Given the description of an element on the screen output the (x, y) to click on. 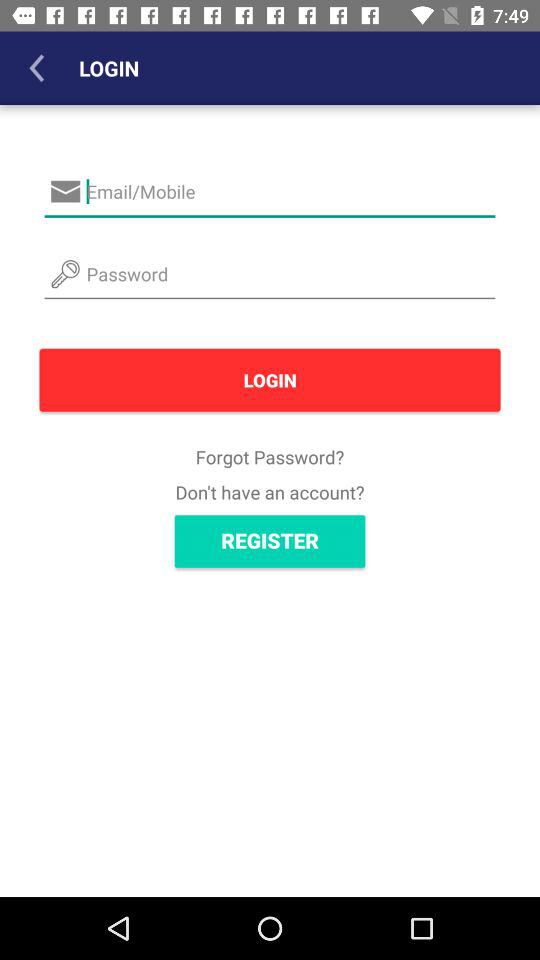
press the item below don t have icon (269, 541)
